Given the description of an element on the screen output the (x, y) to click on. 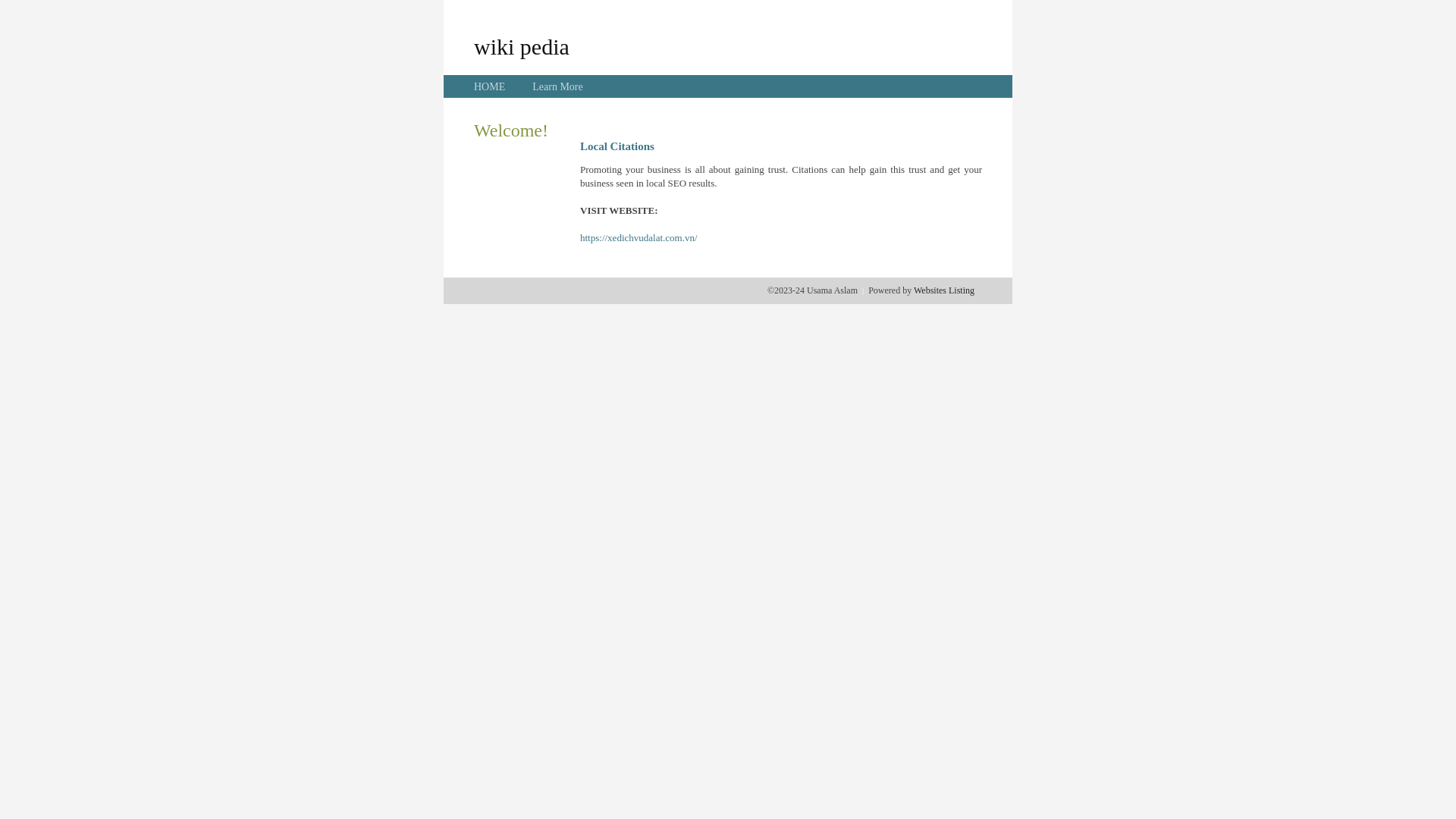
Learn More Element type: text (557, 86)
HOME Element type: text (489, 86)
Websites Listing Element type: text (943, 290)
https://xedichvudalat.com.vn/ Element type: text (638, 237)
wiki pedia Element type: text (521, 46)
